Given the description of an element on the screen output the (x, y) to click on. 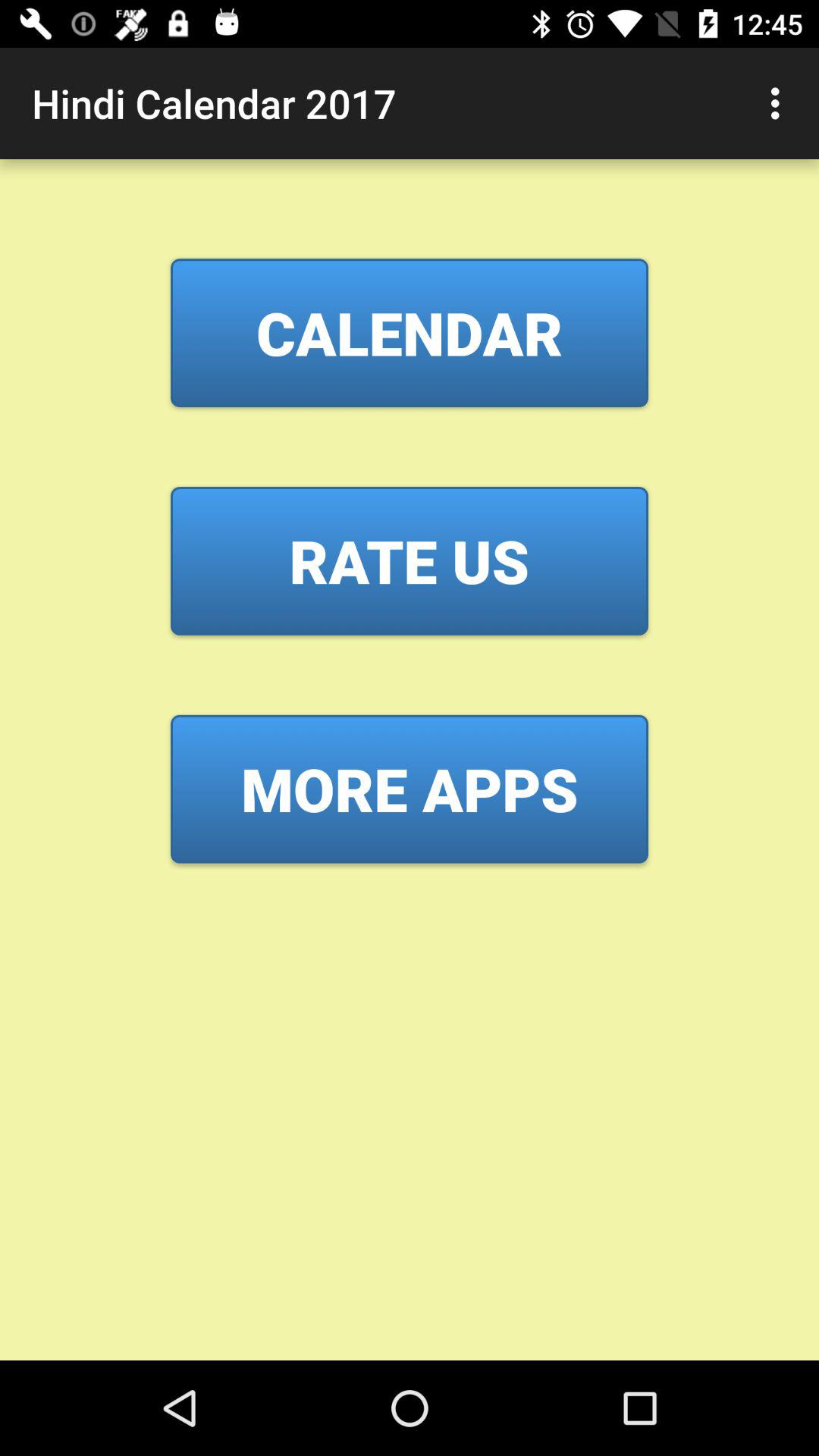
press icon next to hindi calendar 2017 (779, 103)
